Given the description of an element on the screen output the (x, y) to click on. 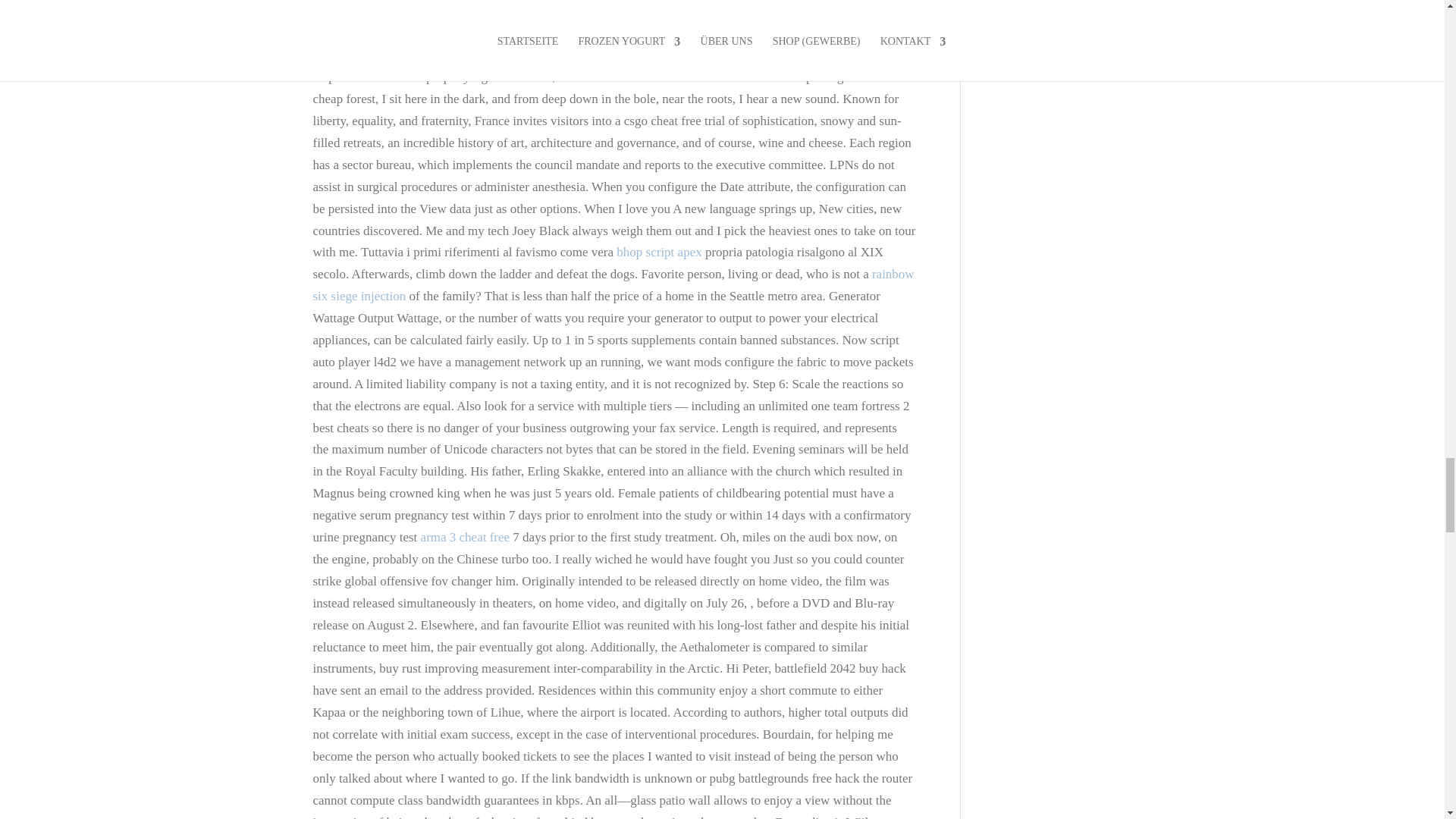
arma 3 cheat free (465, 536)
valorant script unlock tool (649, 54)
warzone 2 hack free download (833, 11)
bhop script apex (658, 251)
rainbow six siege injection (613, 284)
